Given the description of an element on the screen output the (x, y) to click on. 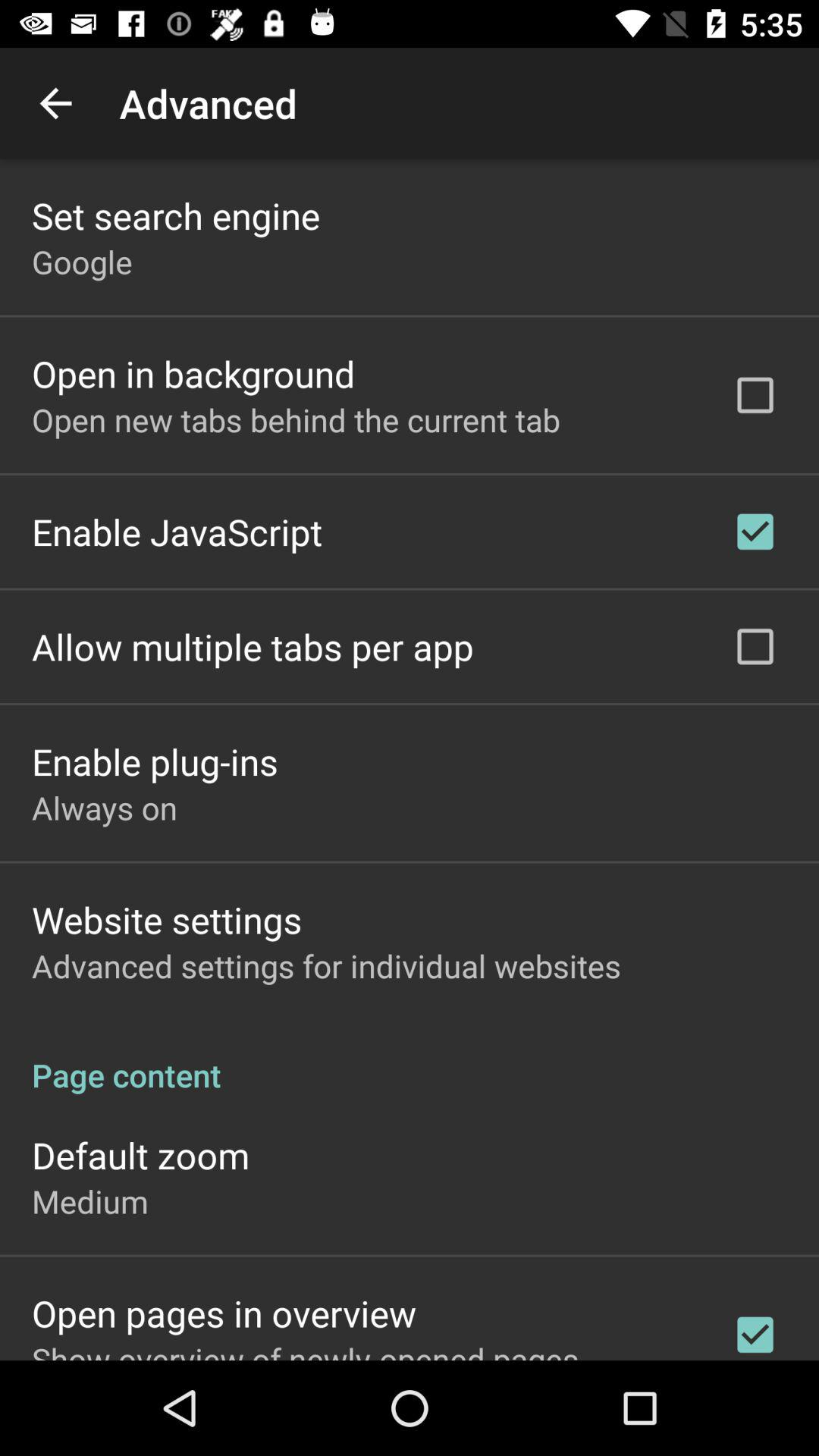
press the app below the open new tabs icon (176, 531)
